Given the description of an element on the screen output the (x, y) to click on. 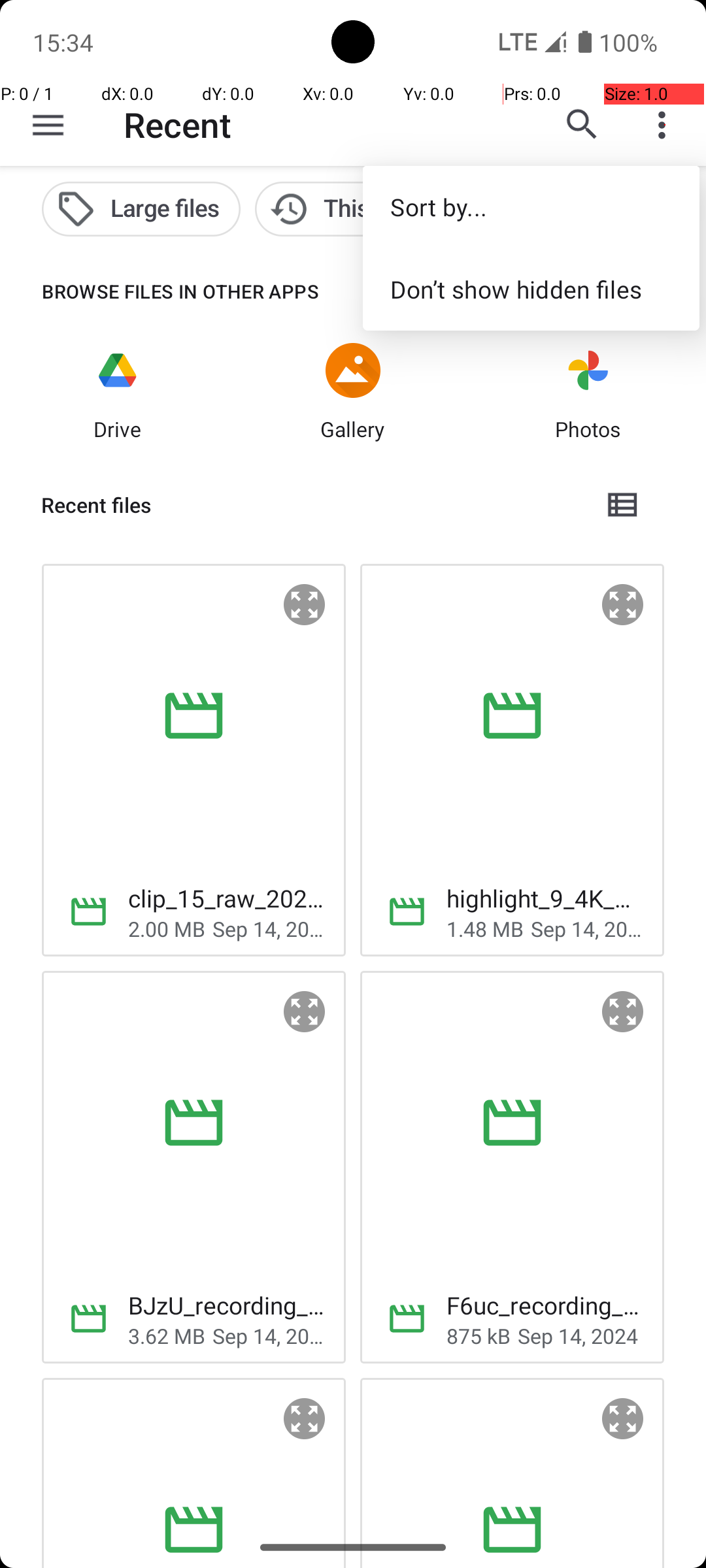
Don’t show hidden files Element type: android.widget.TextView (531, 288)
